Given the description of an element on the screen output the (x, y) to click on. 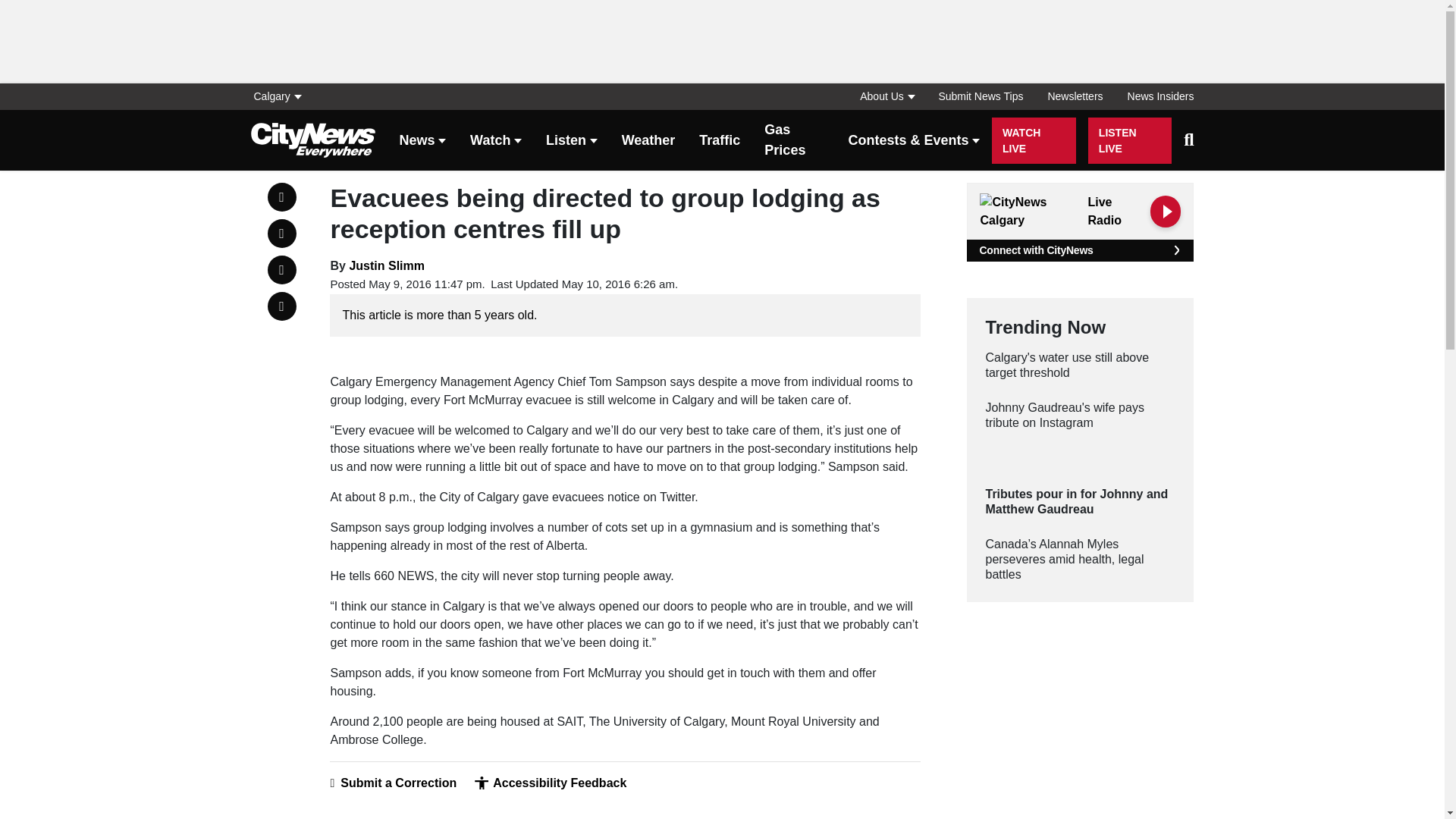
Watch (495, 140)
Accessibility Feedback (550, 782)
Johnny Gaudreau's wife pays tribute on Instagram (1079, 415)
About Us (886, 96)
Calgary's water use still above target threshold (1079, 365)
Submit News Tips (980, 96)
Listen (571, 140)
Submit a Correction (393, 782)
News Insiders (1154, 96)
Newsletters (1075, 96)
